Given the description of an element on the screen output the (x, y) to click on. 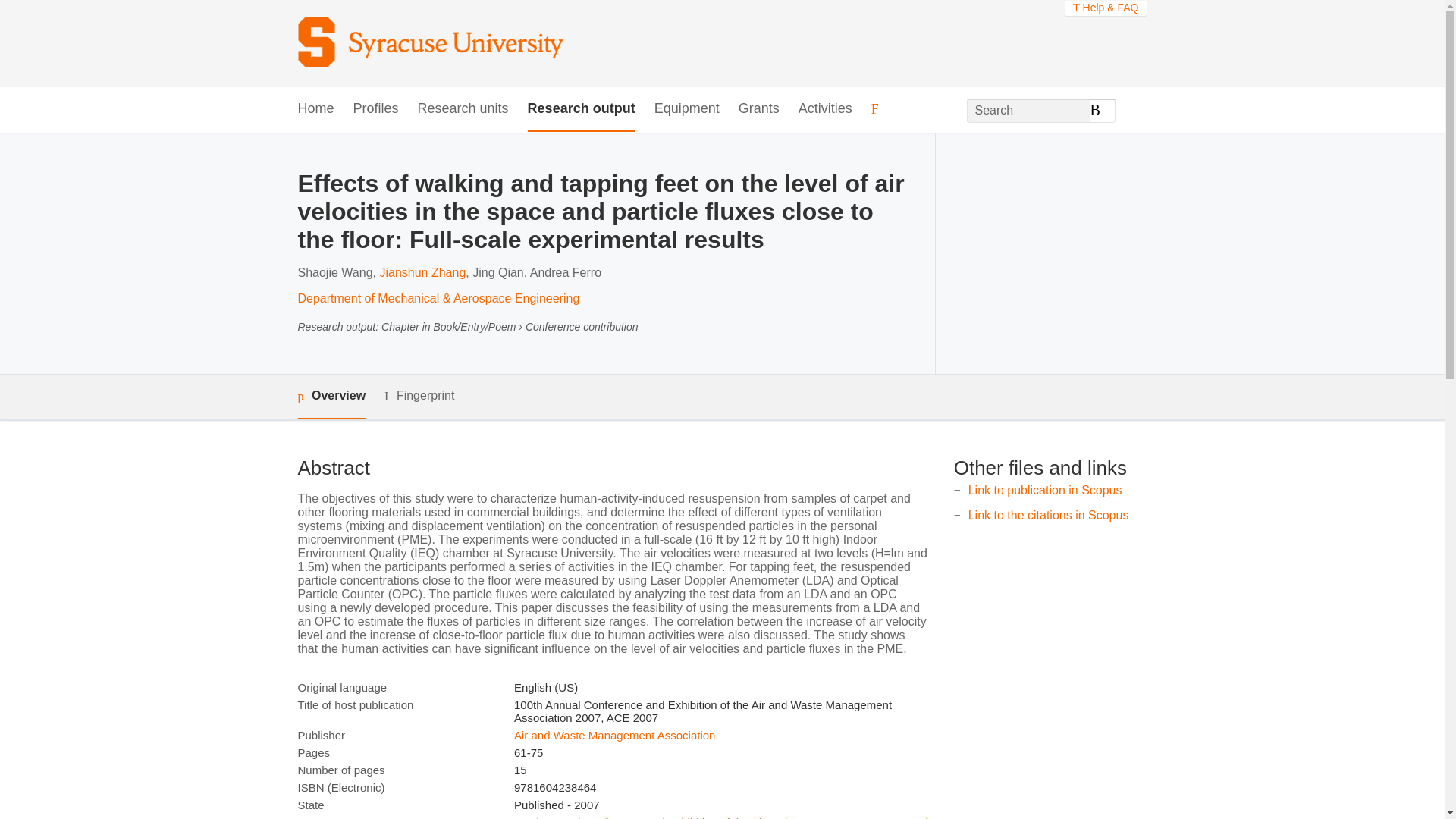
Profiles (375, 108)
Overview (331, 396)
Jianshun Zhang (421, 272)
Research units (462, 108)
Link to the citations in Scopus (1048, 514)
Research output (580, 108)
Air and Waste Management Association (613, 735)
Grants (758, 108)
Fingerprint (419, 395)
Link to publication in Scopus (1045, 490)
Activities (824, 108)
Equipment (686, 108)
